Given the description of an element on the screen output the (x, y) to click on. 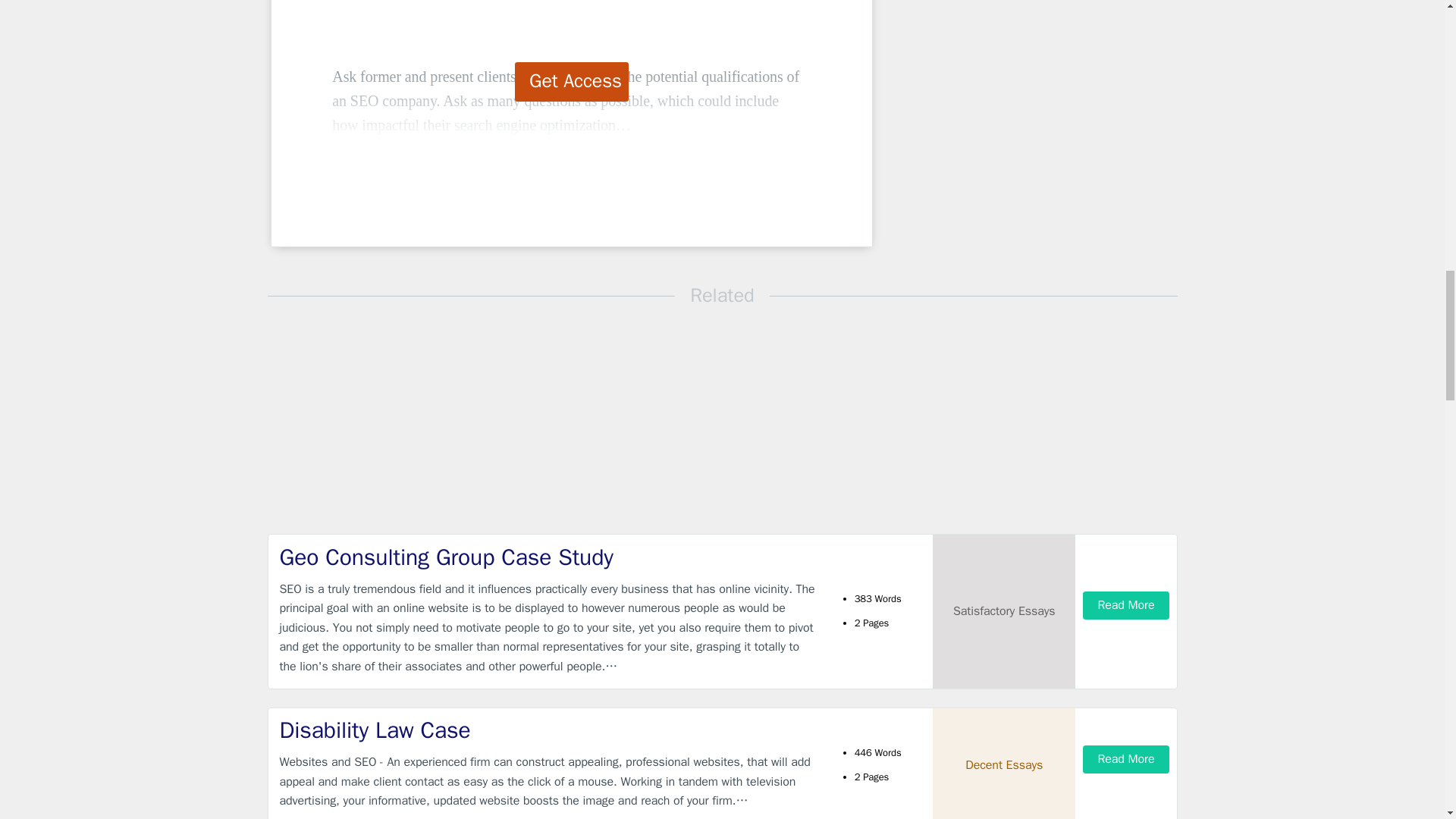
Geo Consulting Group Case Study (548, 557)
Get Access (571, 81)
Read More (1126, 605)
Read More (1126, 759)
Disability Law Case (548, 730)
